Given the description of an element on the screen output the (x, y) to click on. 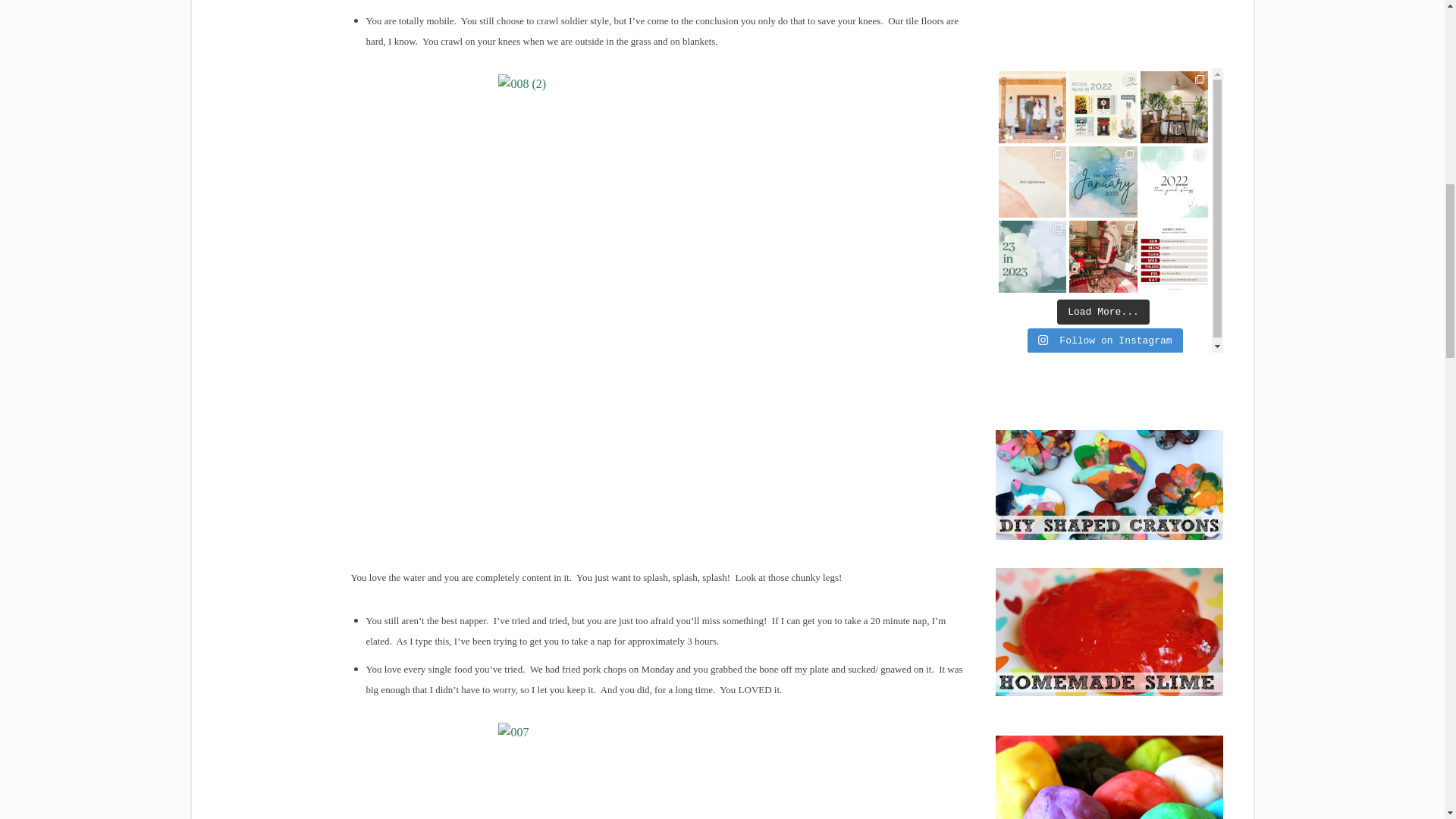
007 (656, 770)
